Given the description of an element on the screen output the (x, y) to click on. 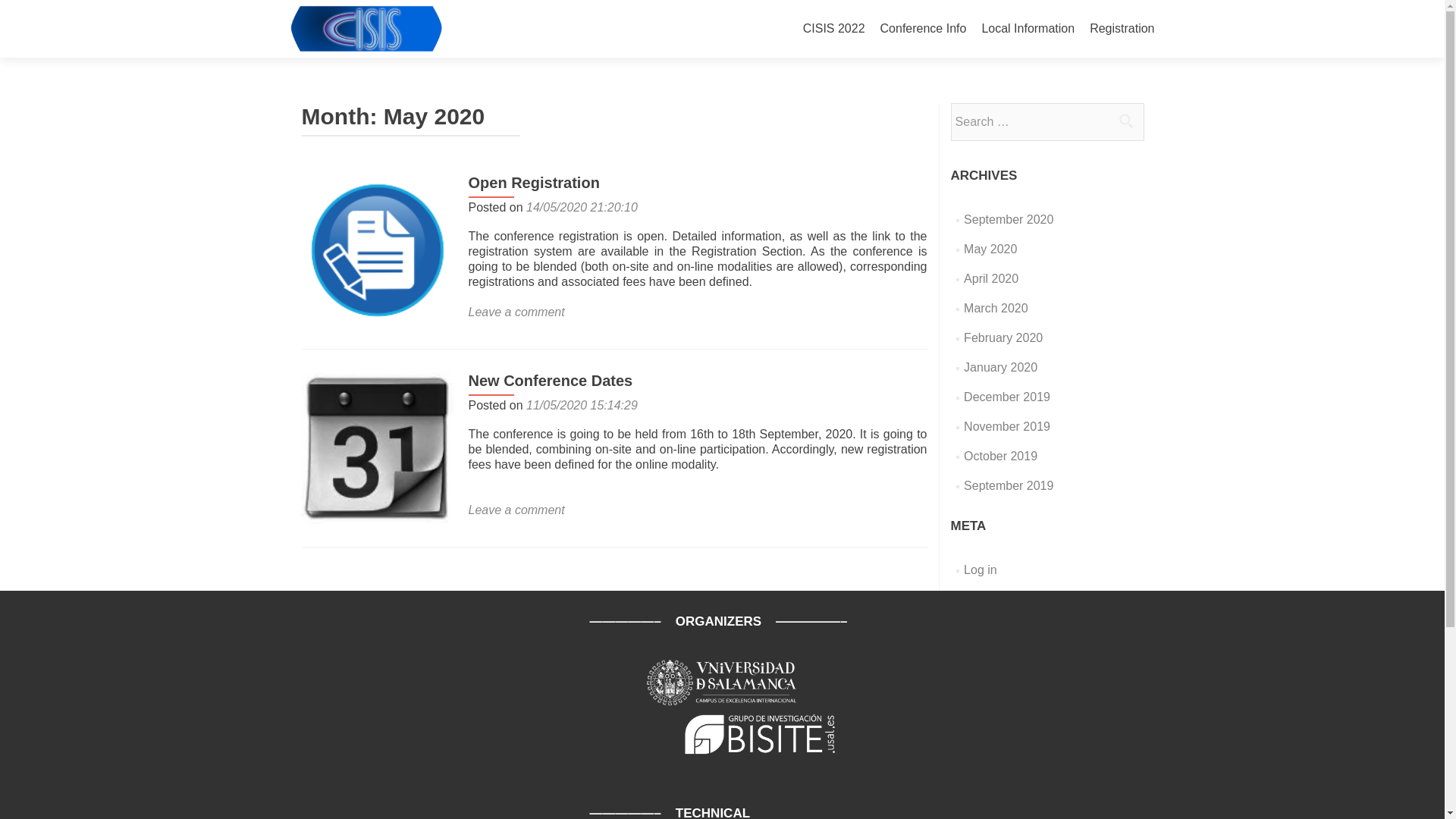
September 2020 (1007, 219)
Search (1125, 120)
Leave a comment (516, 509)
Leave a comment (516, 311)
Search (1125, 120)
New Conference Dates (376, 446)
Conference Info (923, 28)
CISIS 2022 (833, 28)
Search (1125, 120)
Local Information (1027, 28)
